Given the description of an element on the screen output the (x, y) to click on. 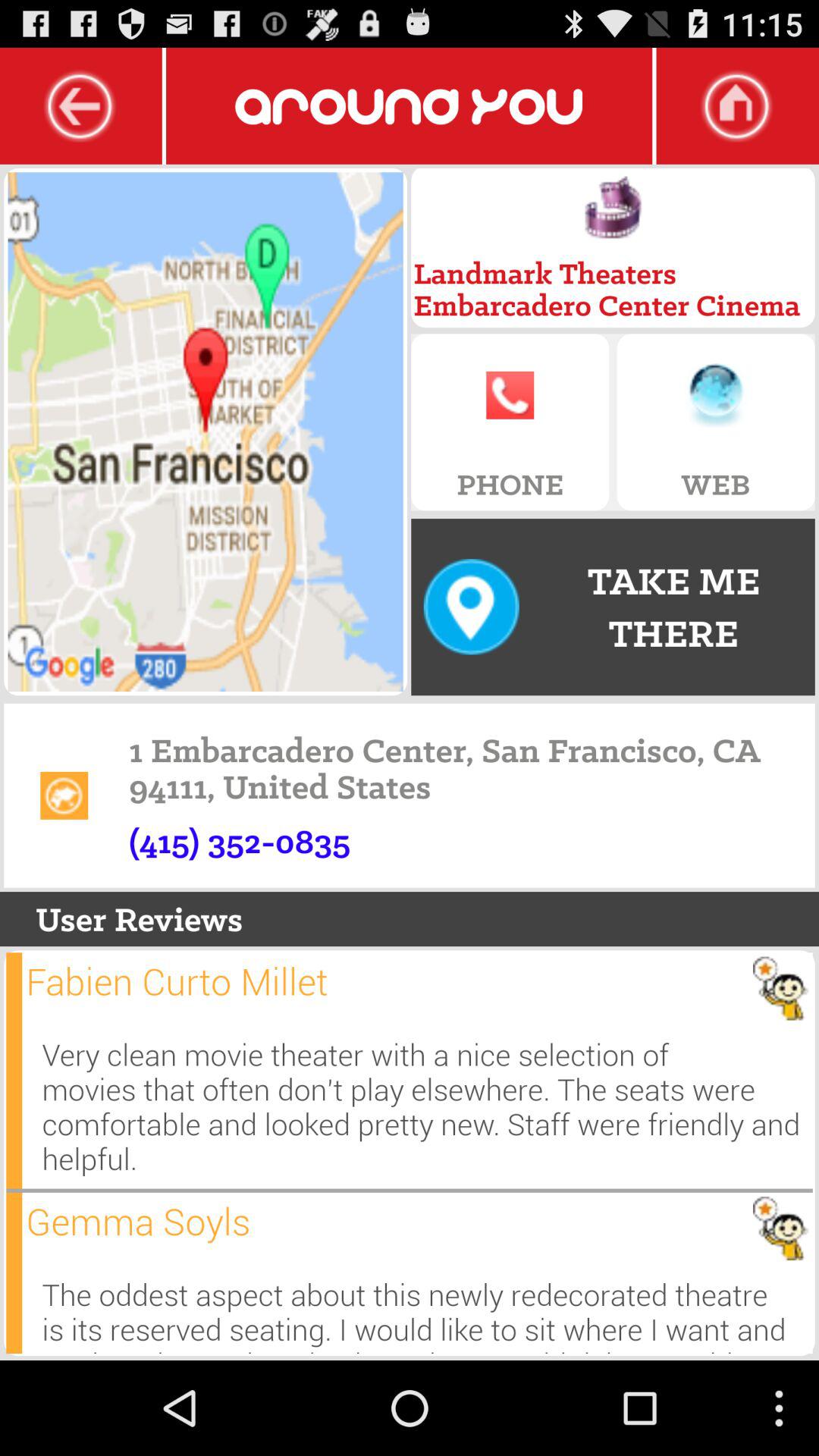
select app next to gemma soyls (14, 1272)
